Given the description of an element on the screen output the (x, y) to click on. 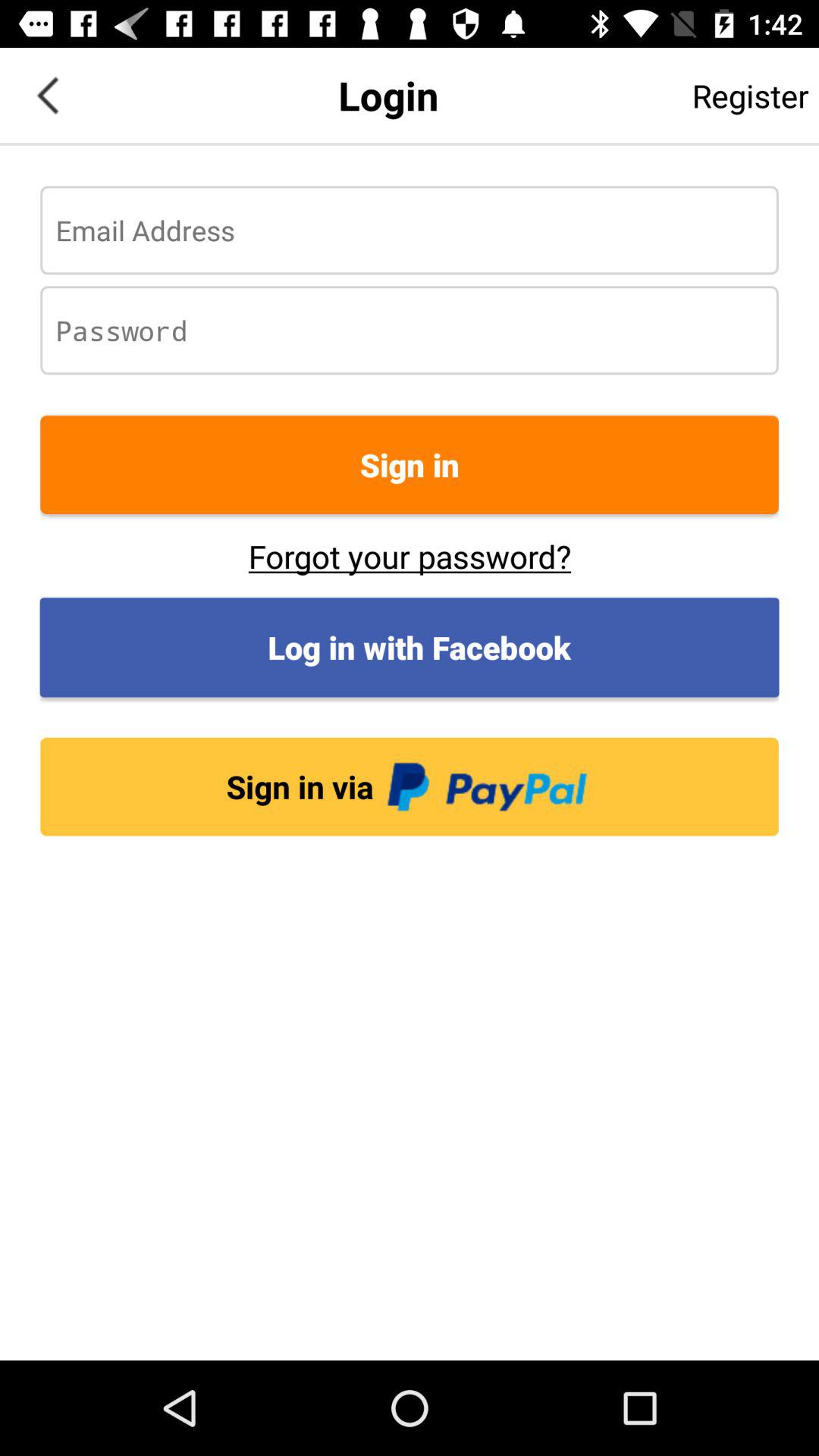
turn off the icon below forgot your password? item (409, 647)
